Given the description of an element on the screen output the (x, y) to click on. 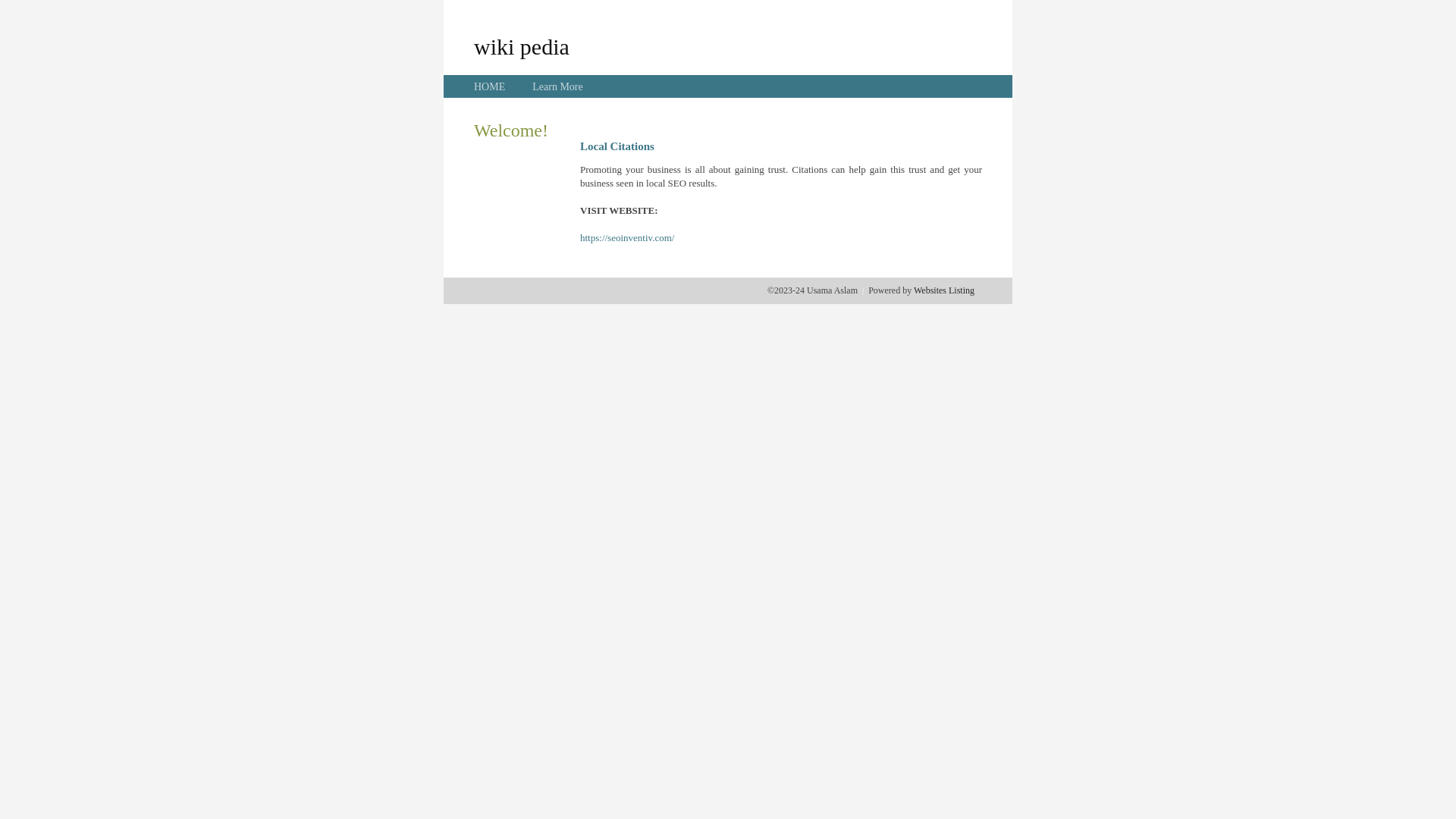
Websites Listing Element type: text (943, 290)
HOME Element type: text (489, 86)
wiki pedia Element type: text (521, 46)
https://seoinventiv.com/ Element type: text (627, 237)
Learn More Element type: text (557, 86)
